Given the description of an element on the screen output the (x, y) to click on. 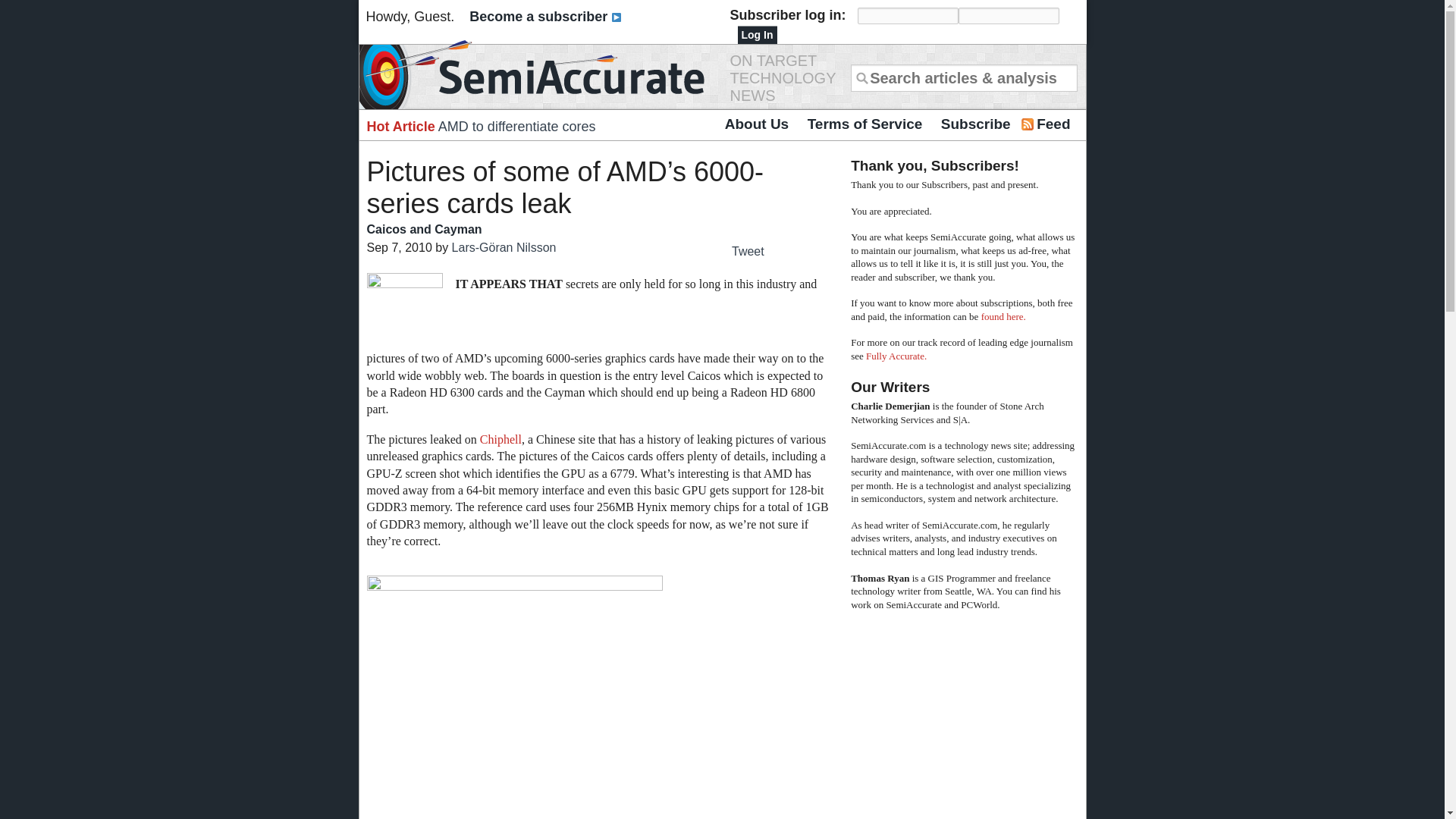
Log In (756, 34)
About Us (756, 123)
Log In (756, 34)
Feed (1053, 123)
Tweet (748, 250)
Permalink to AMD to differentiate cores (516, 126)
Fully Accurate. (896, 355)
SemiAccurate (538, 74)
Subscribe (975, 123)
Chiphell (500, 439)
Become a subscriber (544, 16)
SemiAccurate (538, 74)
found here. (1003, 316)
AMD to differentiate cores (516, 126)
Terms of Service (864, 123)
